Given the description of an element on the screen output the (x, y) to click on. 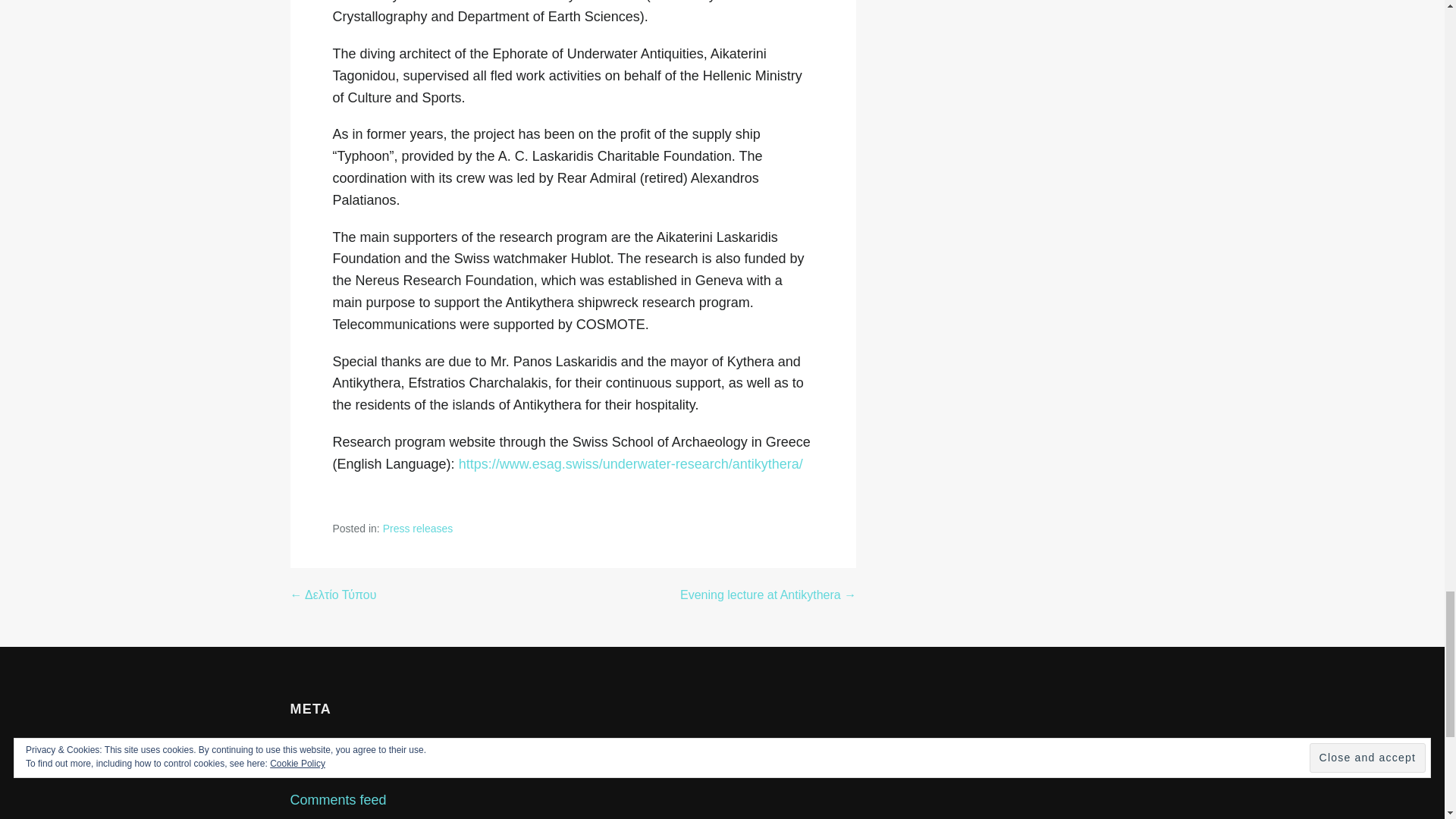
Log in (307, 744)
Press releases (417, 528)
Comments feed (337, 799)
Entries feed (325, 772)
